Given the description of an element on the screen output the (x, y) to click on. 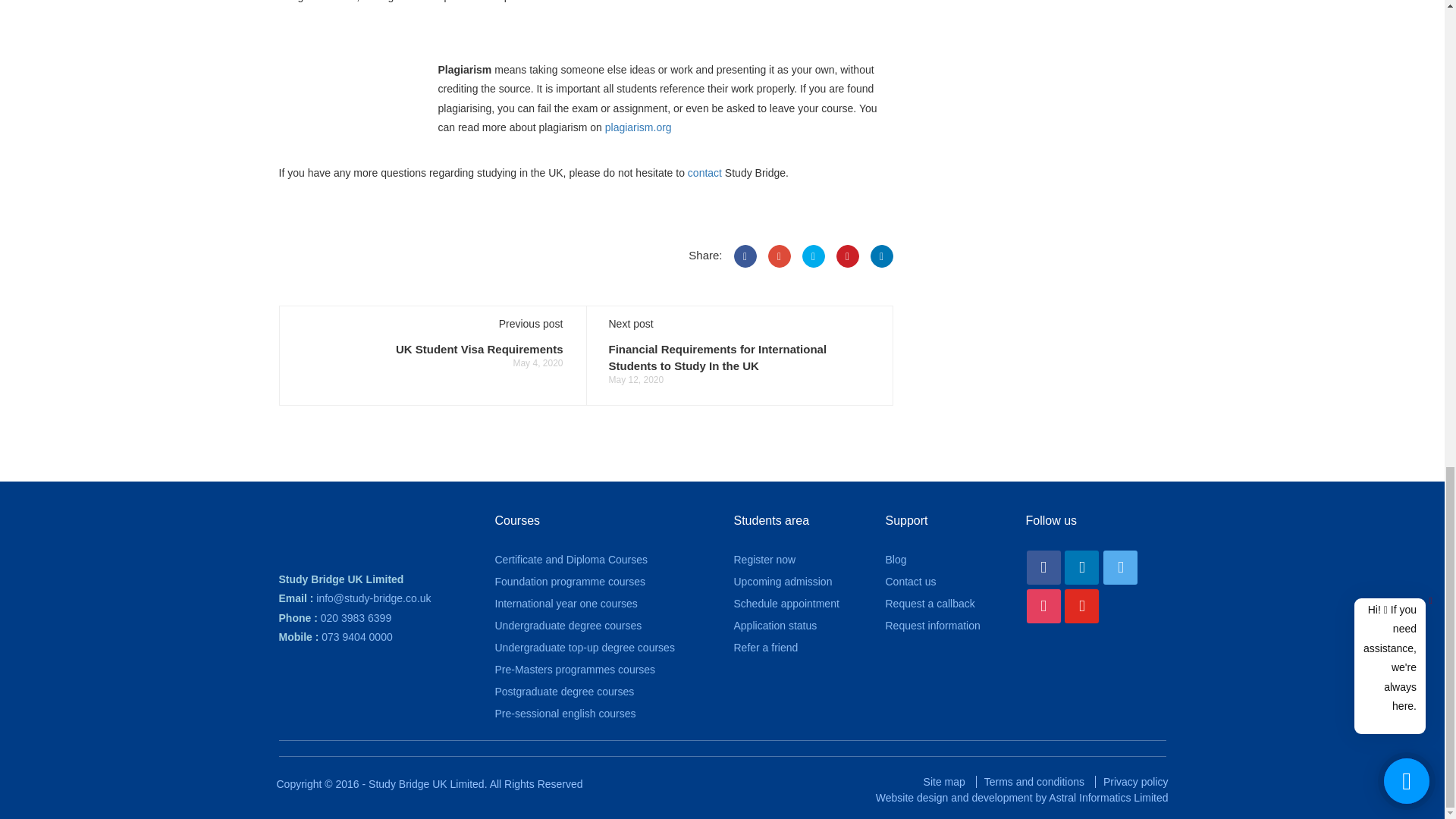
Pinterest (847, 255)
Facebook (745, 255)
Twitter (813, 255)
plagiarism (336, 108)
Facebook (1043, 567)
course-work (827, 18)
Google Plus (778, 255)
